Given the description of an element on the screen output the (x, y) to click on. 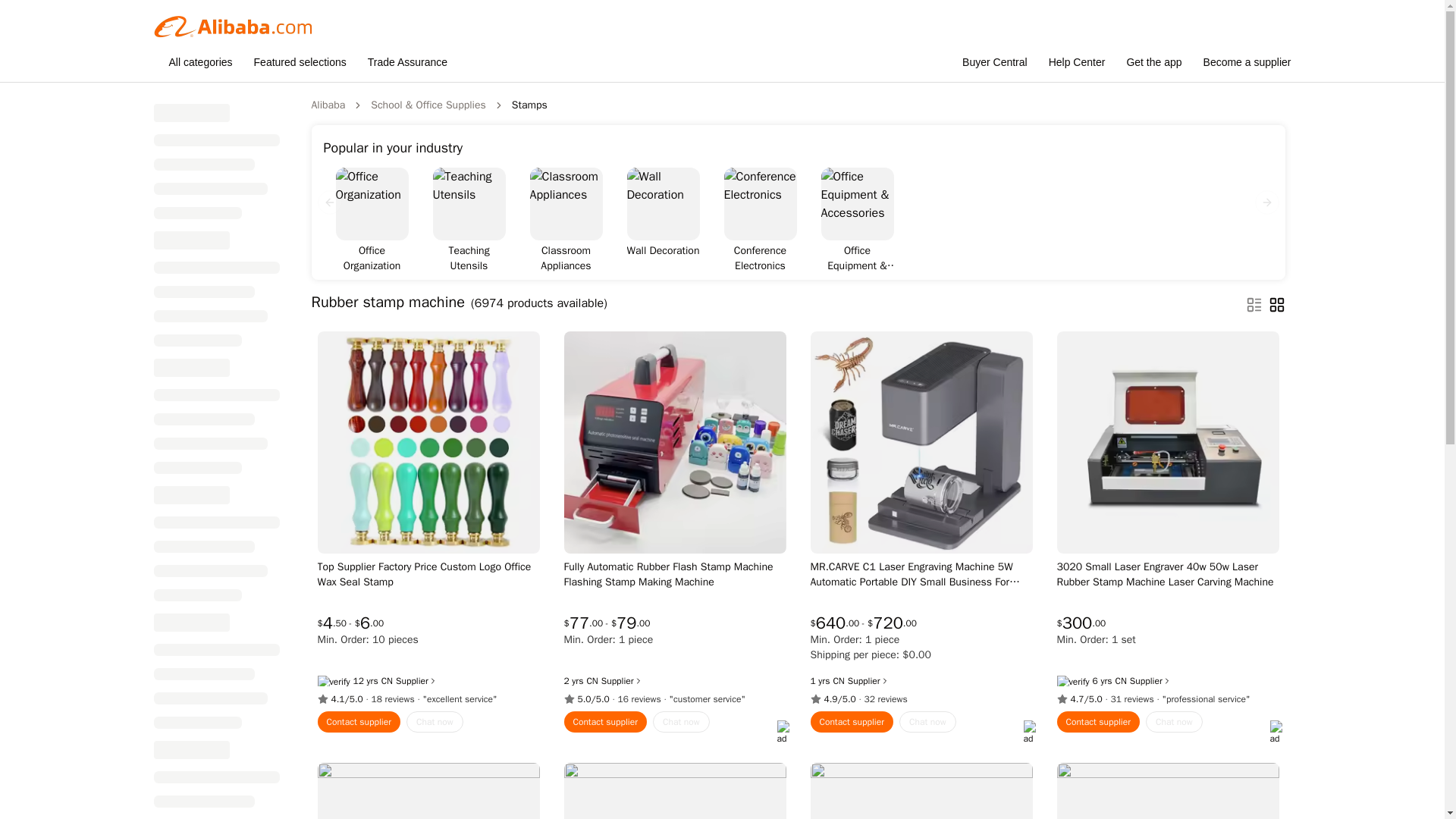
Contact supplier (851, 721)
Chat now (434, 721)
Liaocheng Voiern Laser Technology Co., Ltd. (1120, 680)
Top Supplier Factory Price Custom Logo Office Wax Seal Stamp (427, 574)
Chat now (681, 721)
Contact supplier (358, 721)
Supplier (622, 680)
Contact supplier (605, 721)
Tianchang Woheng Trading Co., Ltd. (591, 680)
Shijiazhuang Tabo Candles Sales Co., Ltd. (387, 680)
Dongguan Create Space Technology Co., Ltd. (838, 680)
Chat now (927, 721)
Supplier (868, 680)
Alibaba (328, 105)
Previous slide (328, 202)
